Given the description of an element on the screen output the (x, y) to click on. 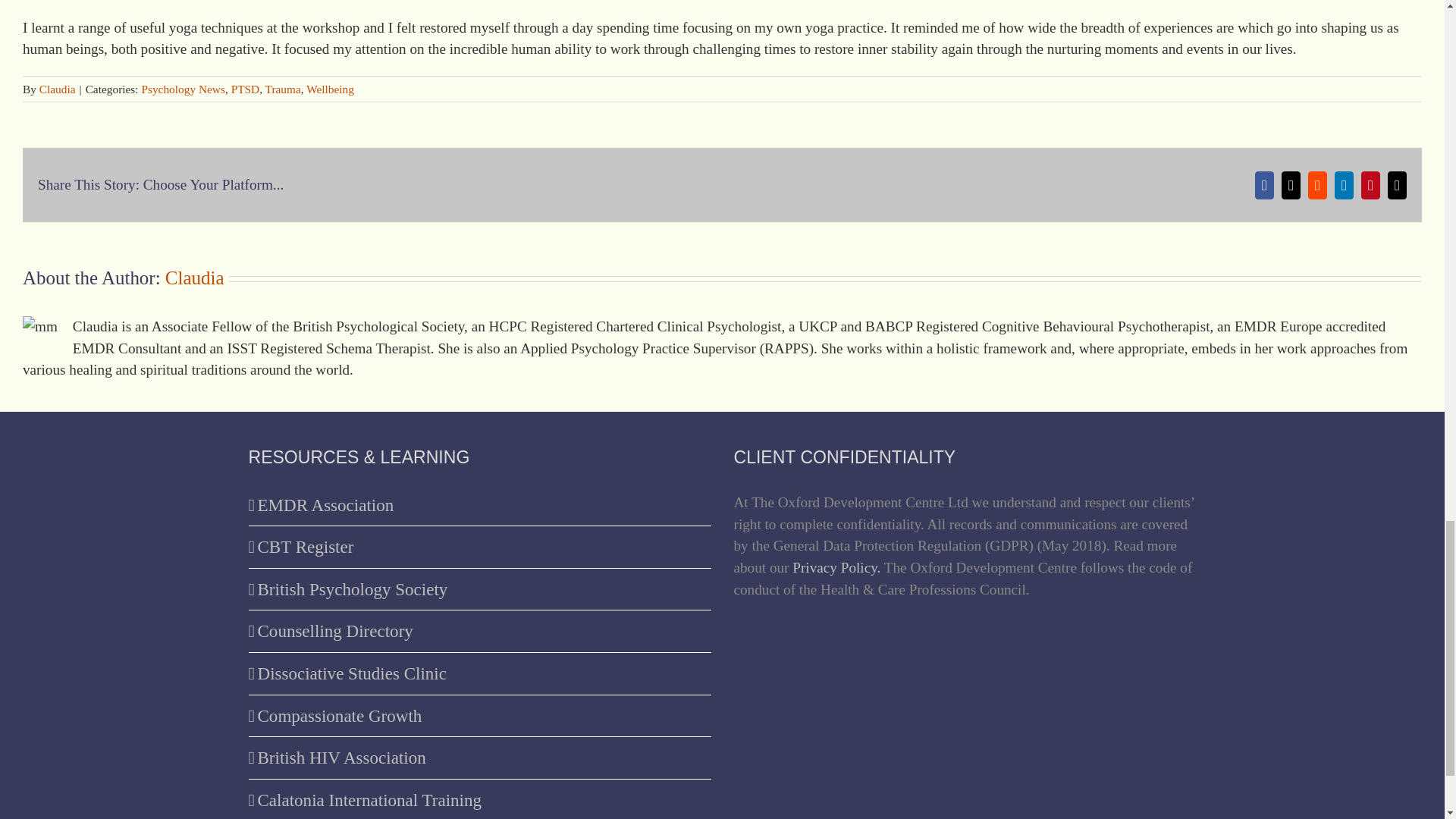
Pinterest (1370, 185)
Posts by Claudia (57, 88)
LinkedIn (1344, 185)
X (1290, 185)
Facebook (1264, 185)
Email (1396, 185)
Posts by Claudia (194, 277)
Reddit (1316, 185)
